Given the description of an element on the screen output the (x, y) to click on. 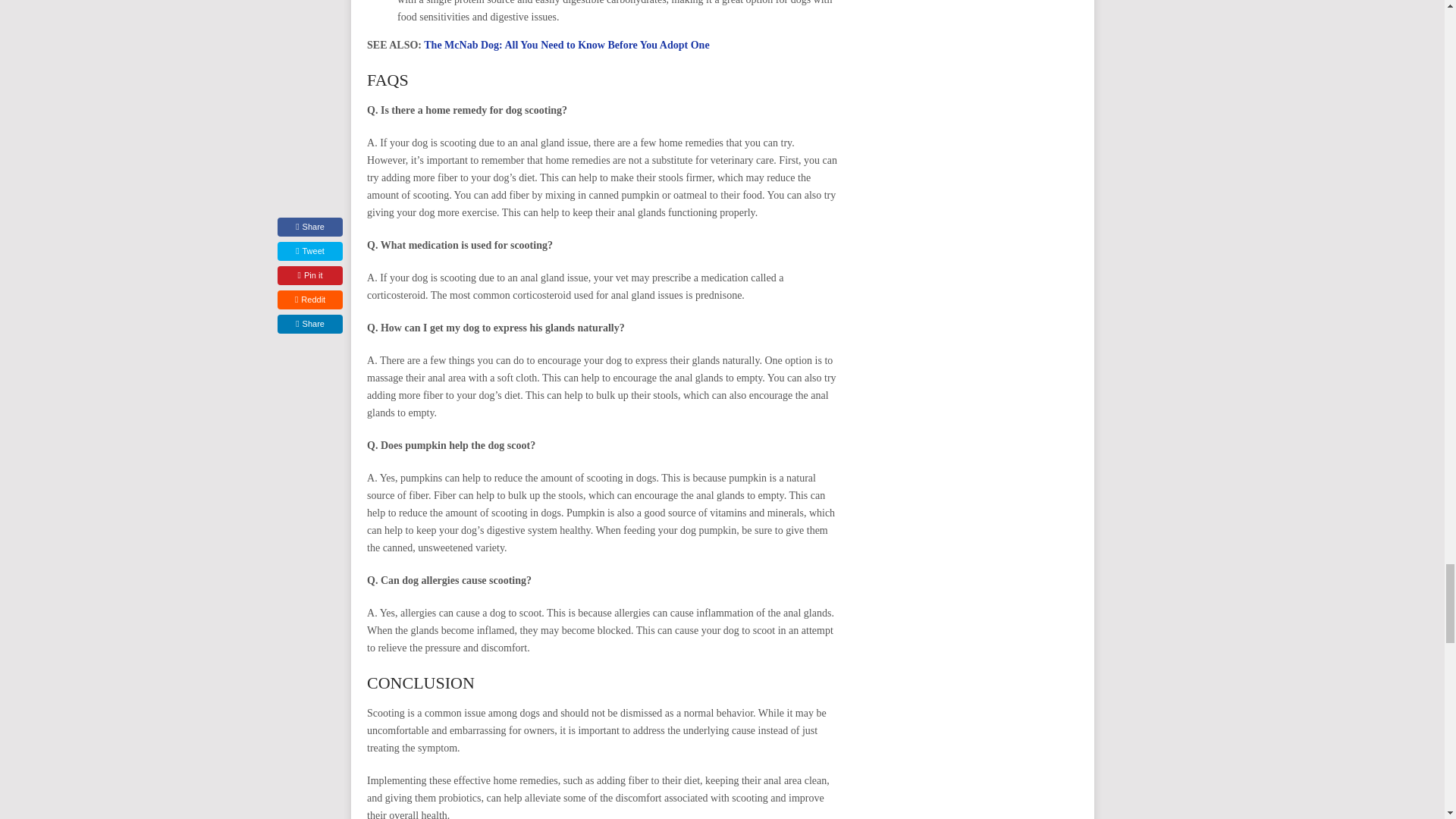
The McNab Dog: All You Need to Know Before You Adopt One (566, 44)
